Given the description of an element on the screen output the (x, y) to click on. 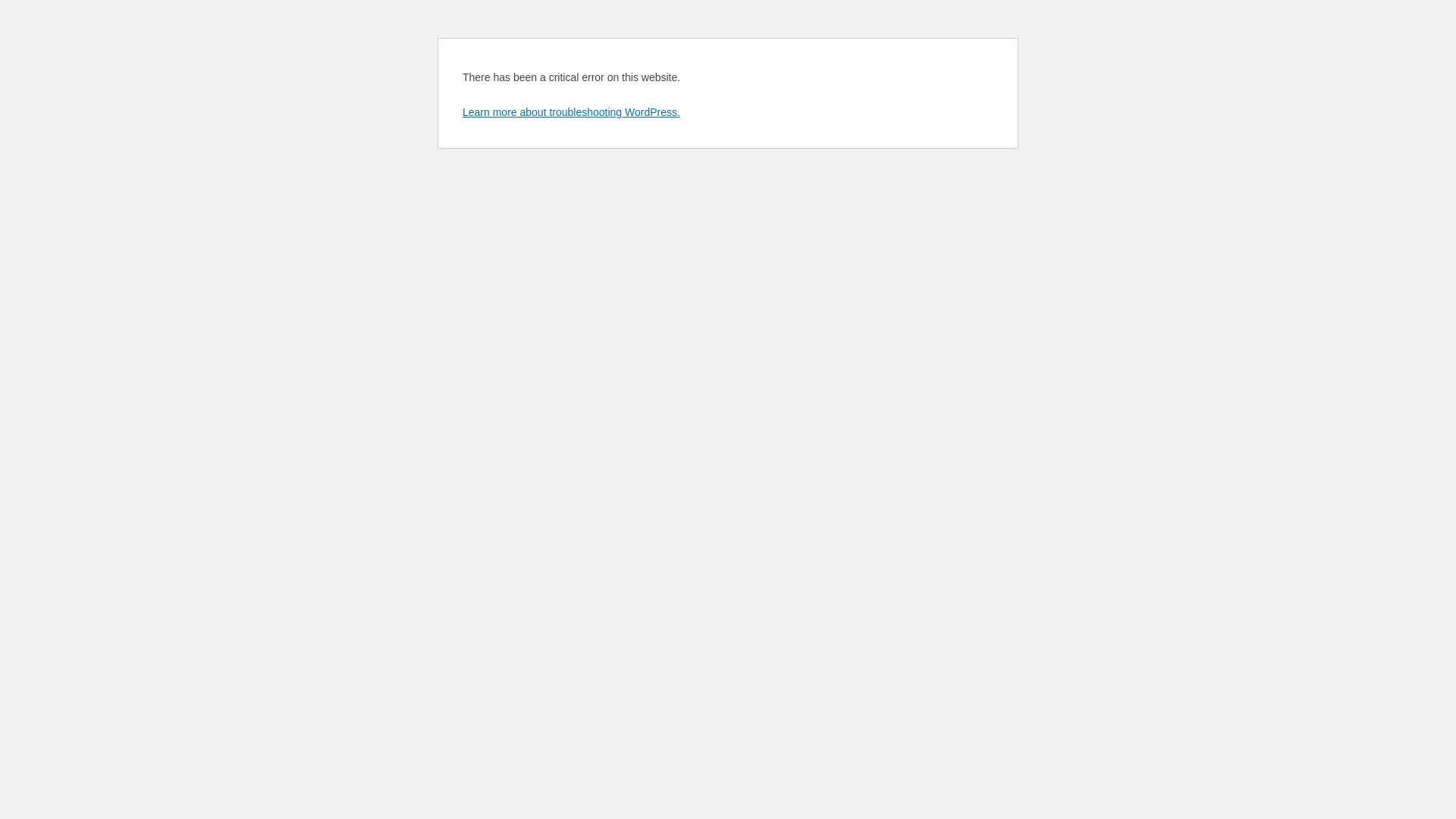
Learn more about troubleshooting WordPress. Element type: text (571, 112)
